Given the description of an element on the screen output the (x, y) to click on. 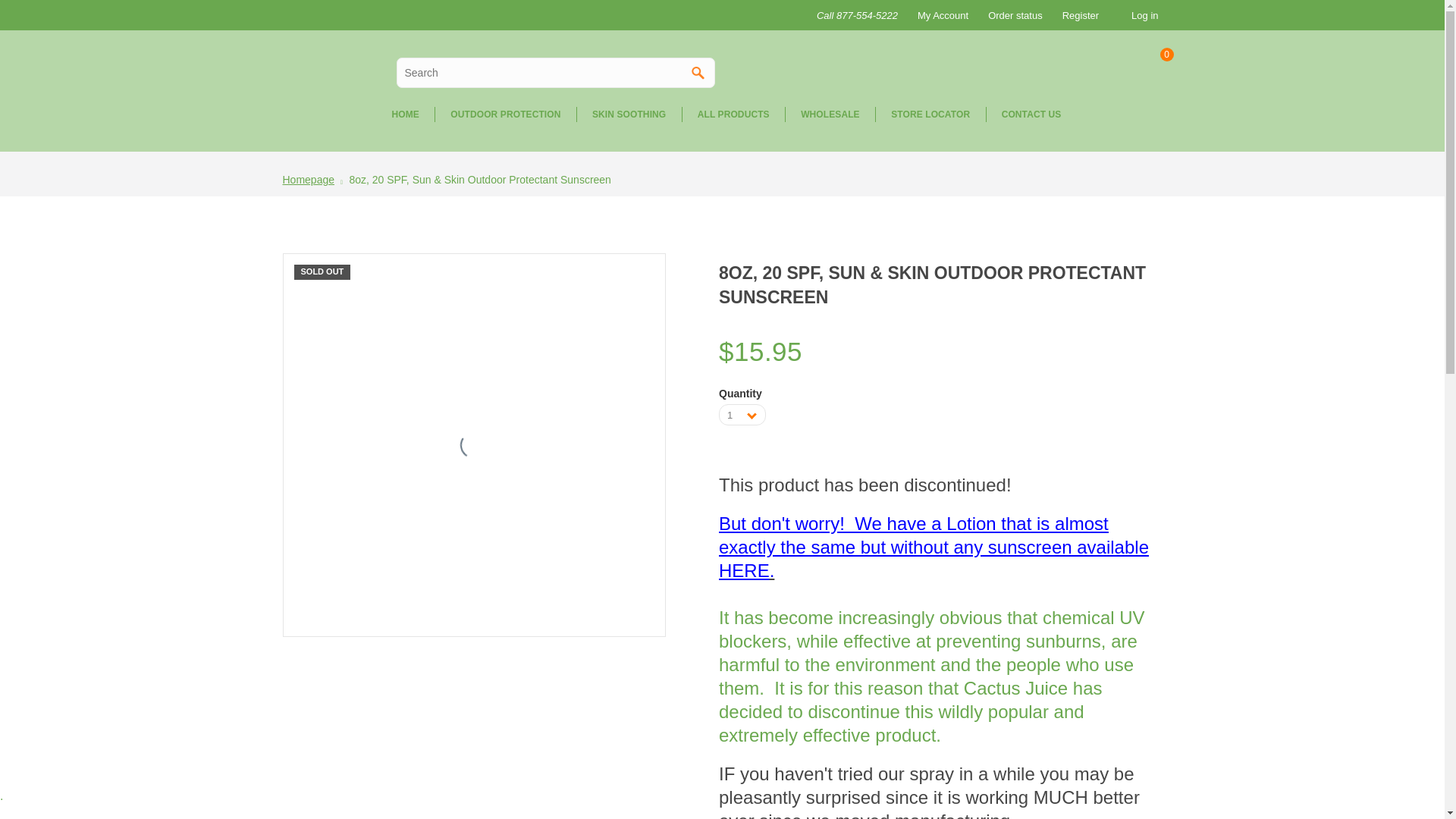
ALL PRODUCTS (732, 114)
Call 877-554-5222 (855, 15)
My Account (940, 15)
HOME (404, 114)
CONTACT US (1031, 114)
OUTDOOR PROTECTION (504, 114)
Register (1077, 15)
Log in (1146, 15)
Homepage (308, 179)
Order status (1012, 15)
